Given the description of an element on the screen output the (x, y) to click on. 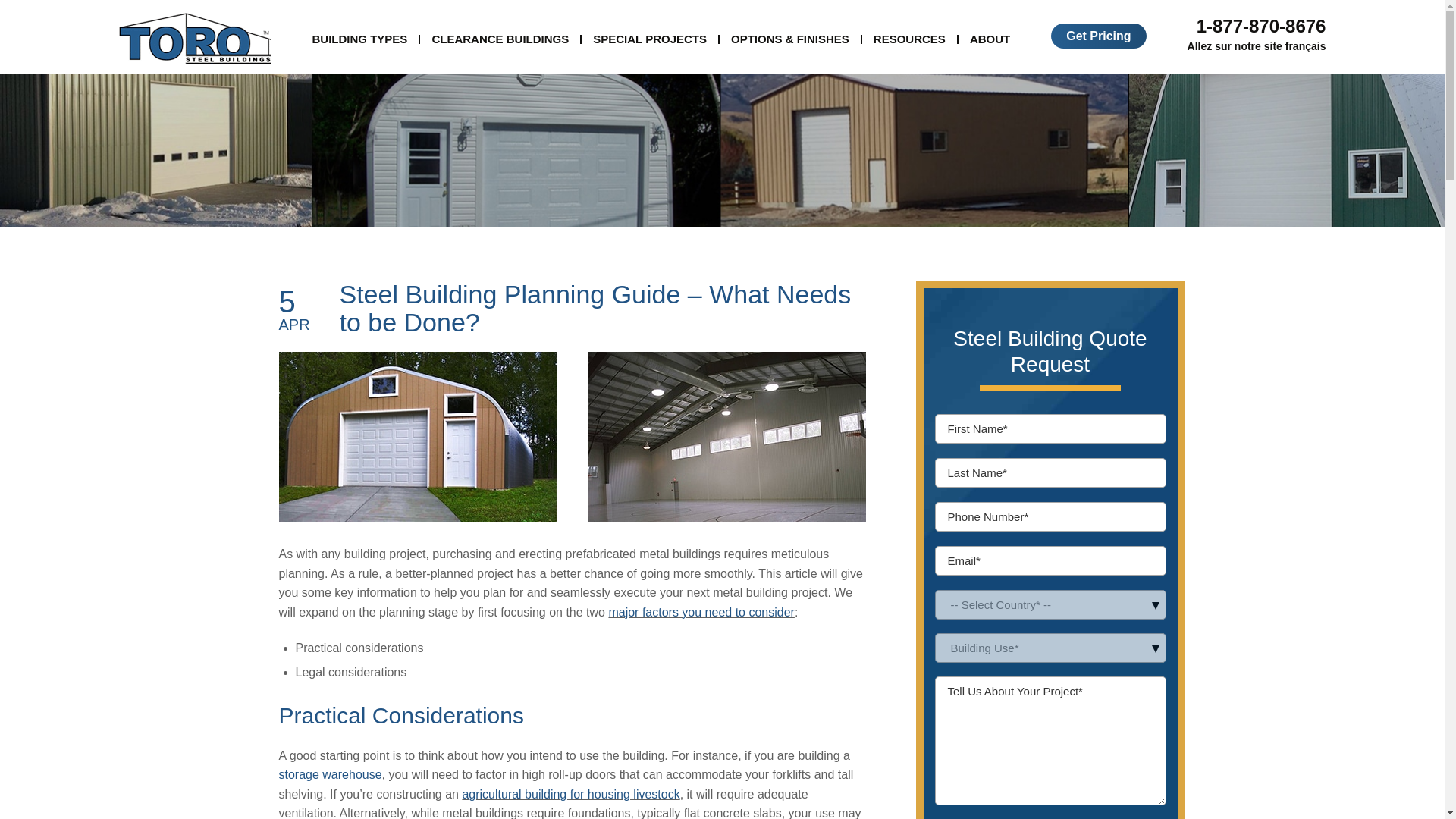
CLEARANCE BUILDINGS (499, 39)
RESOURCES (908, 39)
BUILDING TYPES (360, 39)
SPECIAL PROJECTS (649, 39)
